Given the description of an element on the screen output the (x, y) to click on. 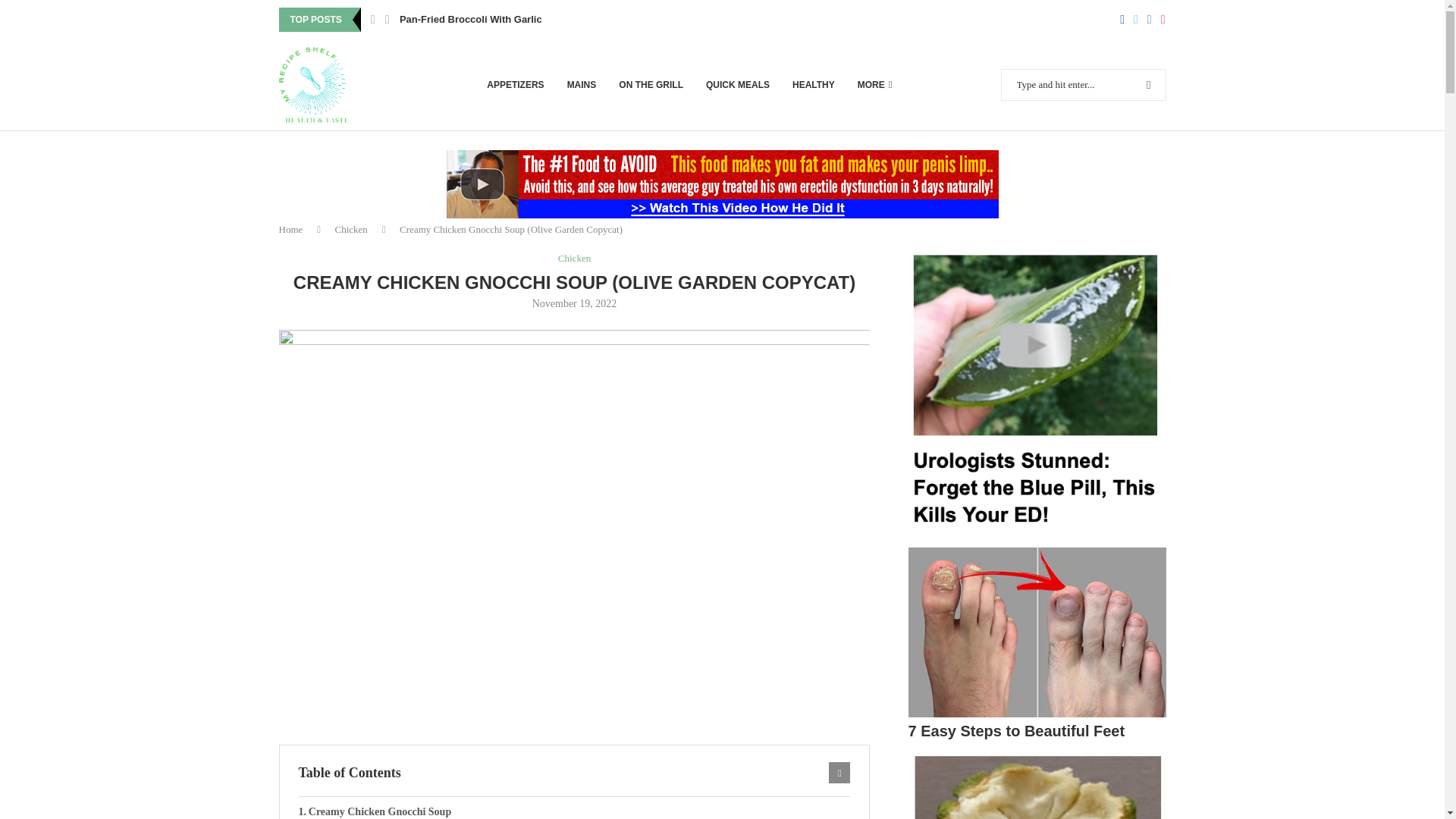
Pan-Fried Broccoli With Garlic (469, 19)
Creamy Chicken Gnocchi Soup (574, 807)
Search (1117, 6)
